Given the description of an element on the screen output the (x, y) to click on. 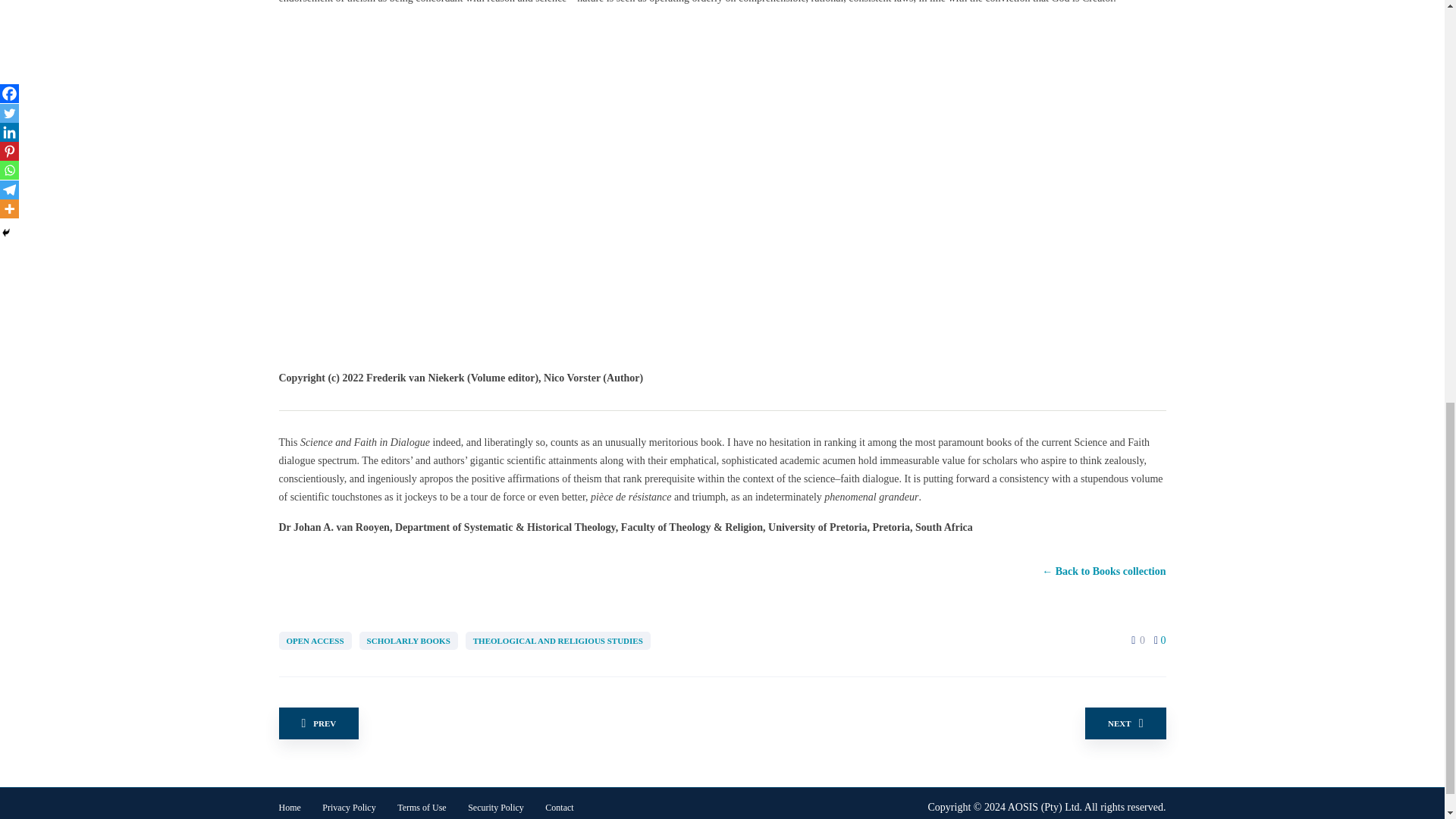
0 comments (1160, 640)
  Likes (1132, 640)
